Given the description of an element on the screen output the (x, y) to click on. 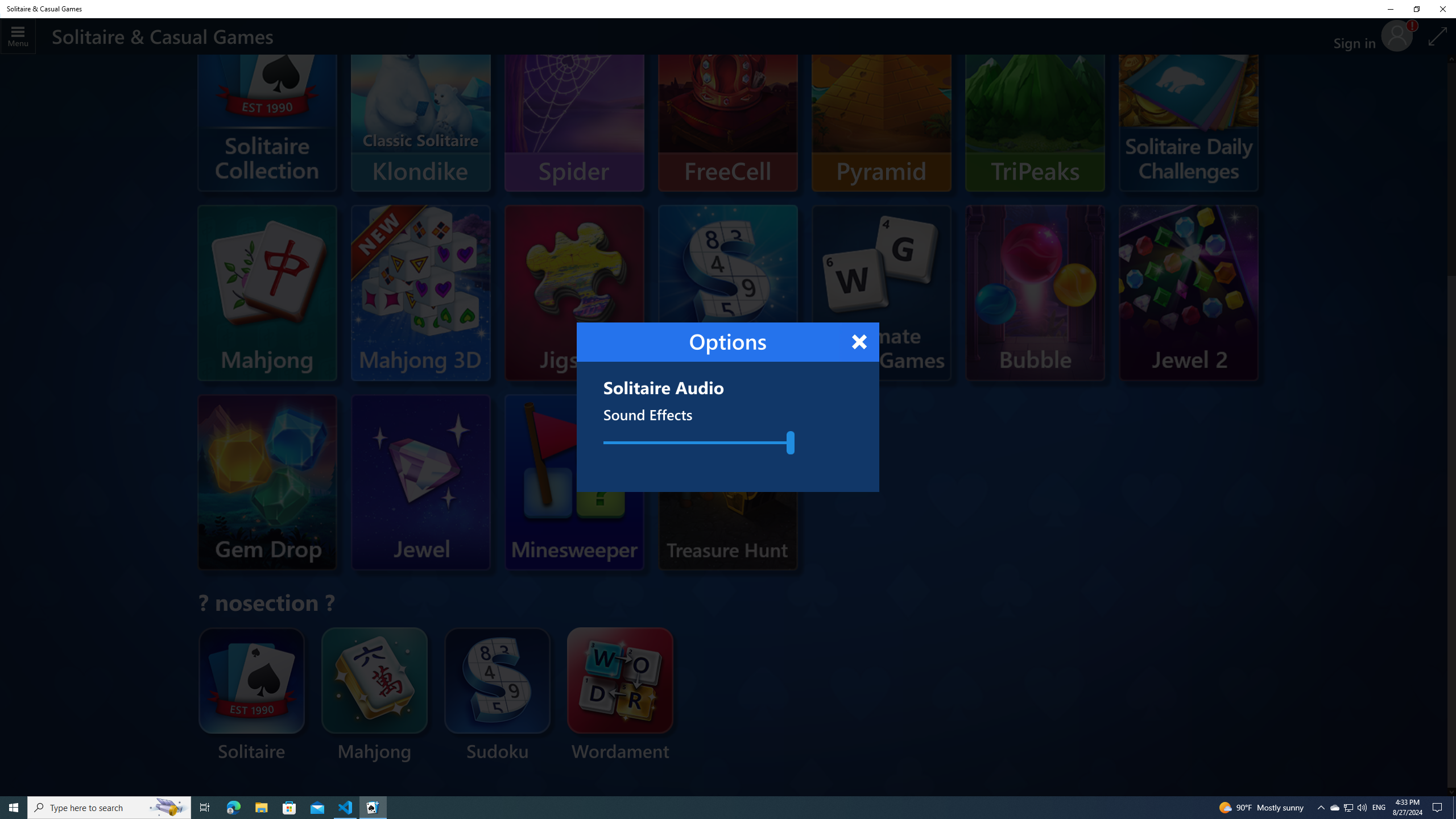
Microsoft Mahjong (267, 292)
Microsoft Jewel (420, 481)
AutomationID: up_arrow_0 (1451, 58)
Close (859, 341)
TriPeaks (1035, 103)
Full Screen View (1437, 36)
Microsoft Sudoku (727, 264)
